Given the description of an element on the screen output the (x, y) to click on. 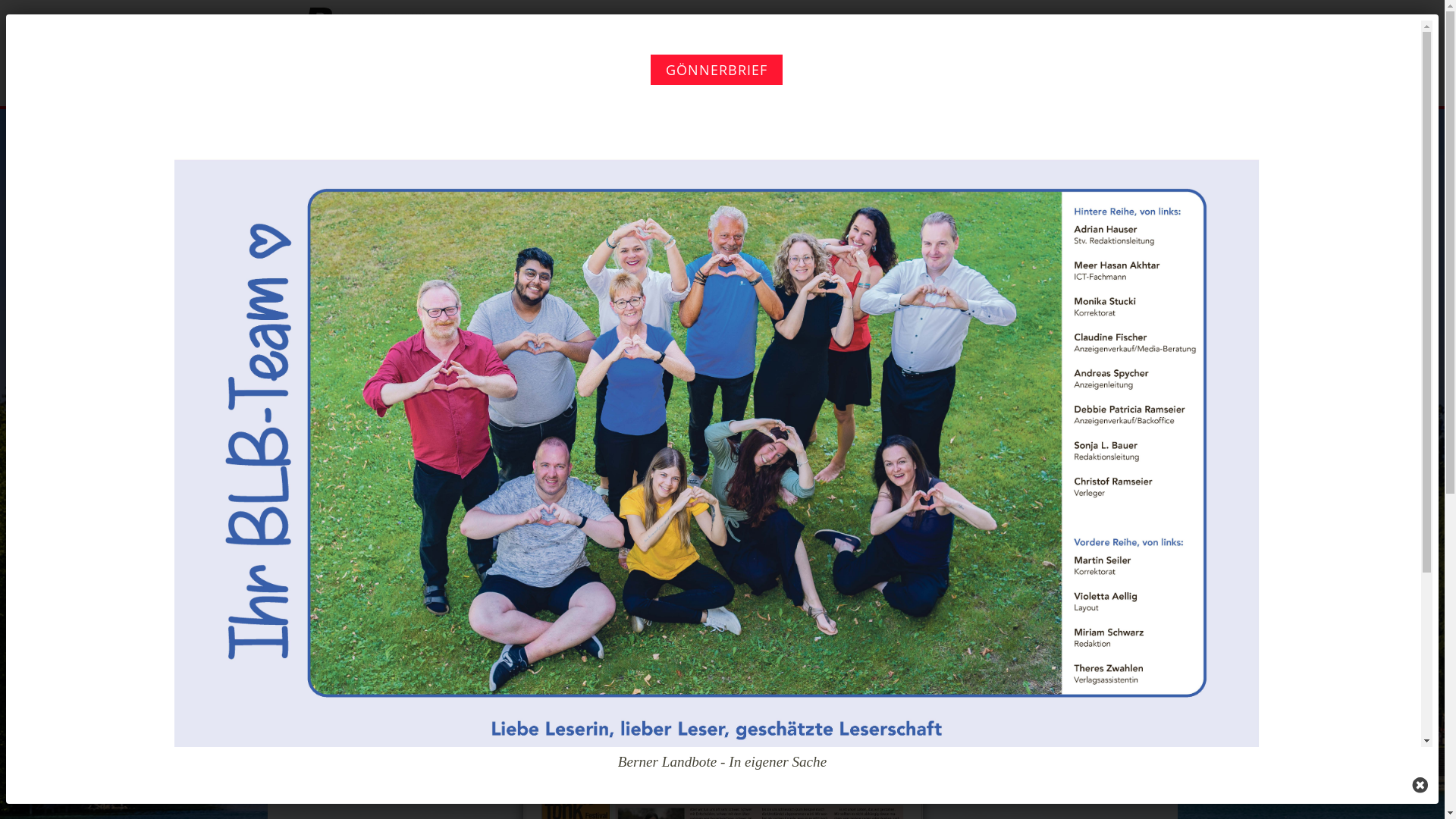
Logo Berner Landbote Element type: hover (418, 47)
Abonnement Element type: text (982, 50)
Close Element type: hover (1420, 786)
E-Paper Element type: text (723, 50)
Inserieren Element type: text (883, 50)
Redaktion Element type: text (1079, 50)
Agenda Element type: text (800, 50)
